Given the description of an element on the screen output the (x, y) to click on. 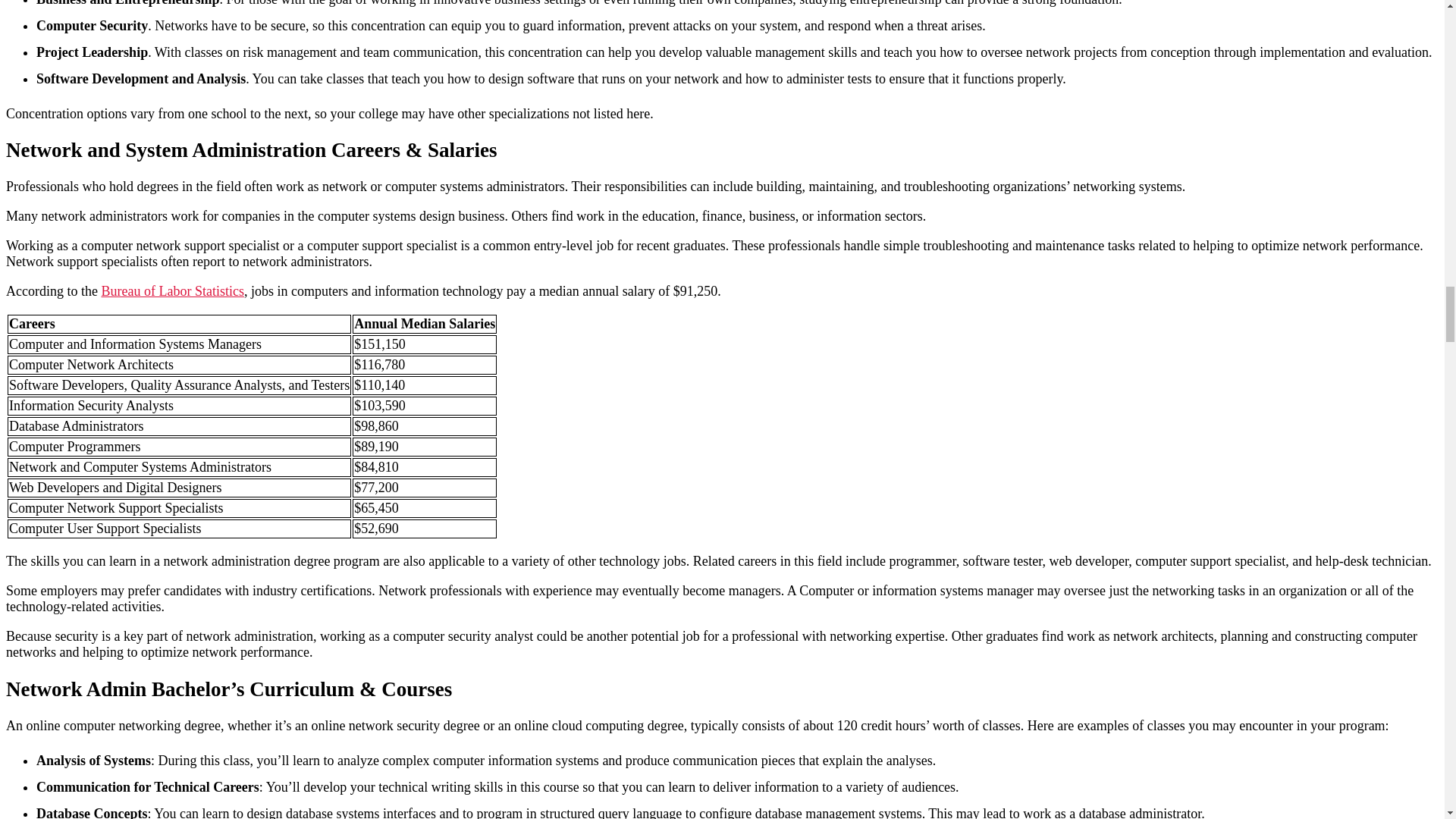
Bureau of Labor Statistics (171, 290)
